Given the description of an element on the screen output the (x, y) to click on. 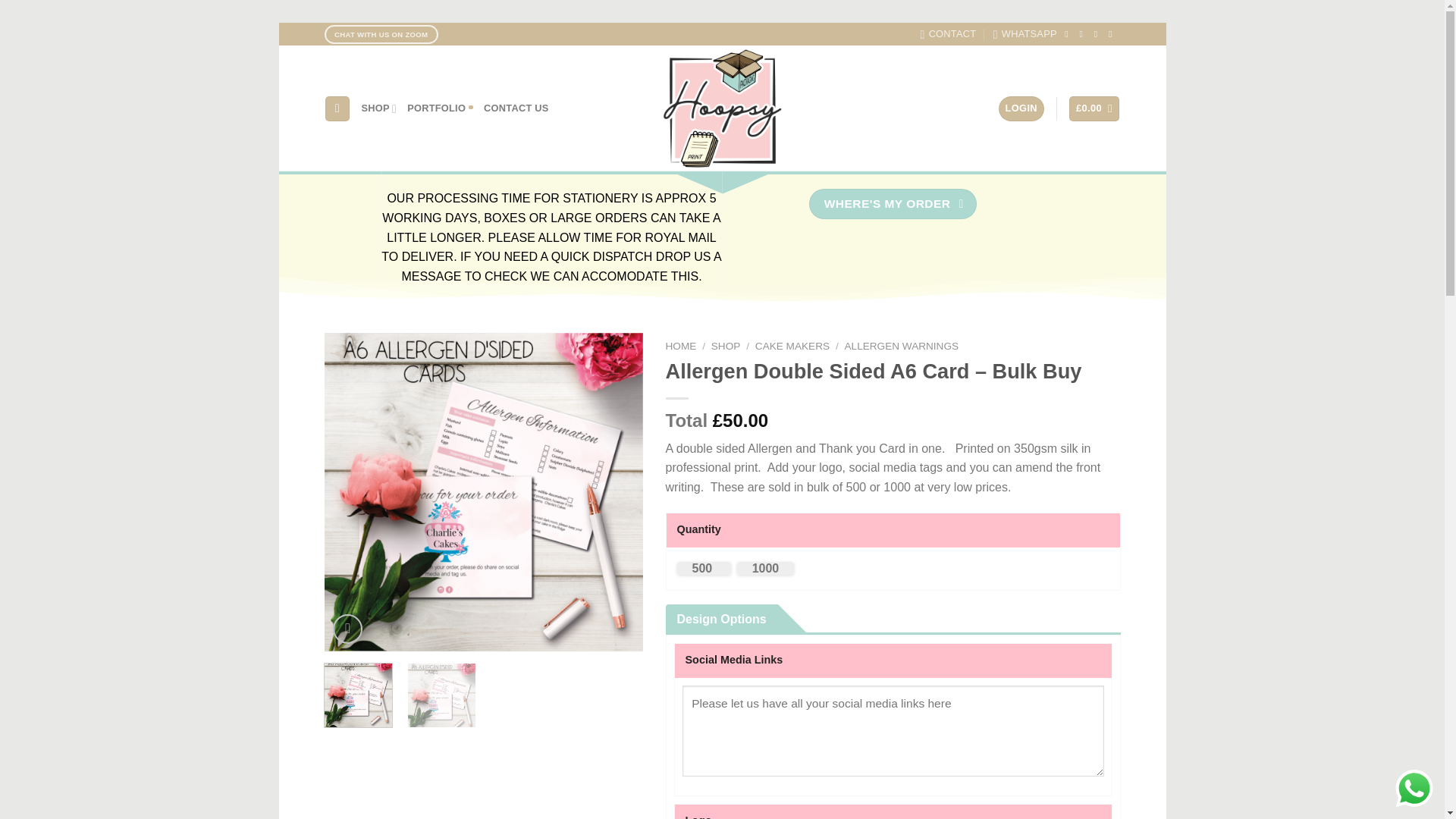
Zoom (347, 628)
CHAT WITH US ON ZOOM (381, 34)
SHOP (379, 108)
Hoopsy - Personalised and quality products (722, 108)
